Given the description of an element on the screen output the (x, y) to click on. 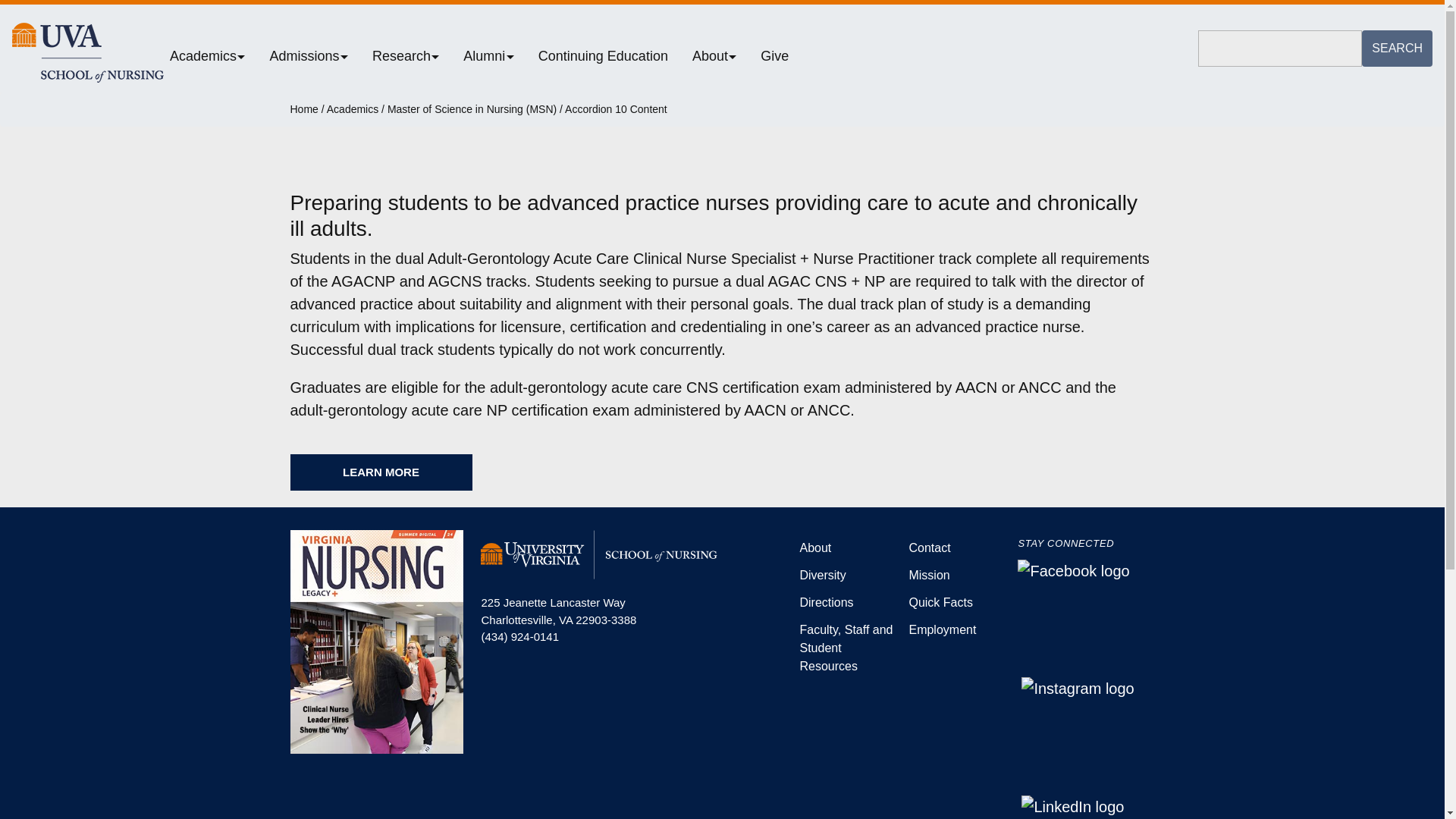
Admissions (314, 55)
Alumni (494, 55)
Academics (213, 55)
Continuing Education (608, 55)
Research (411, 55)
About (719, 55)
